Given the description of an element on the screen output the (x, y) to click on. 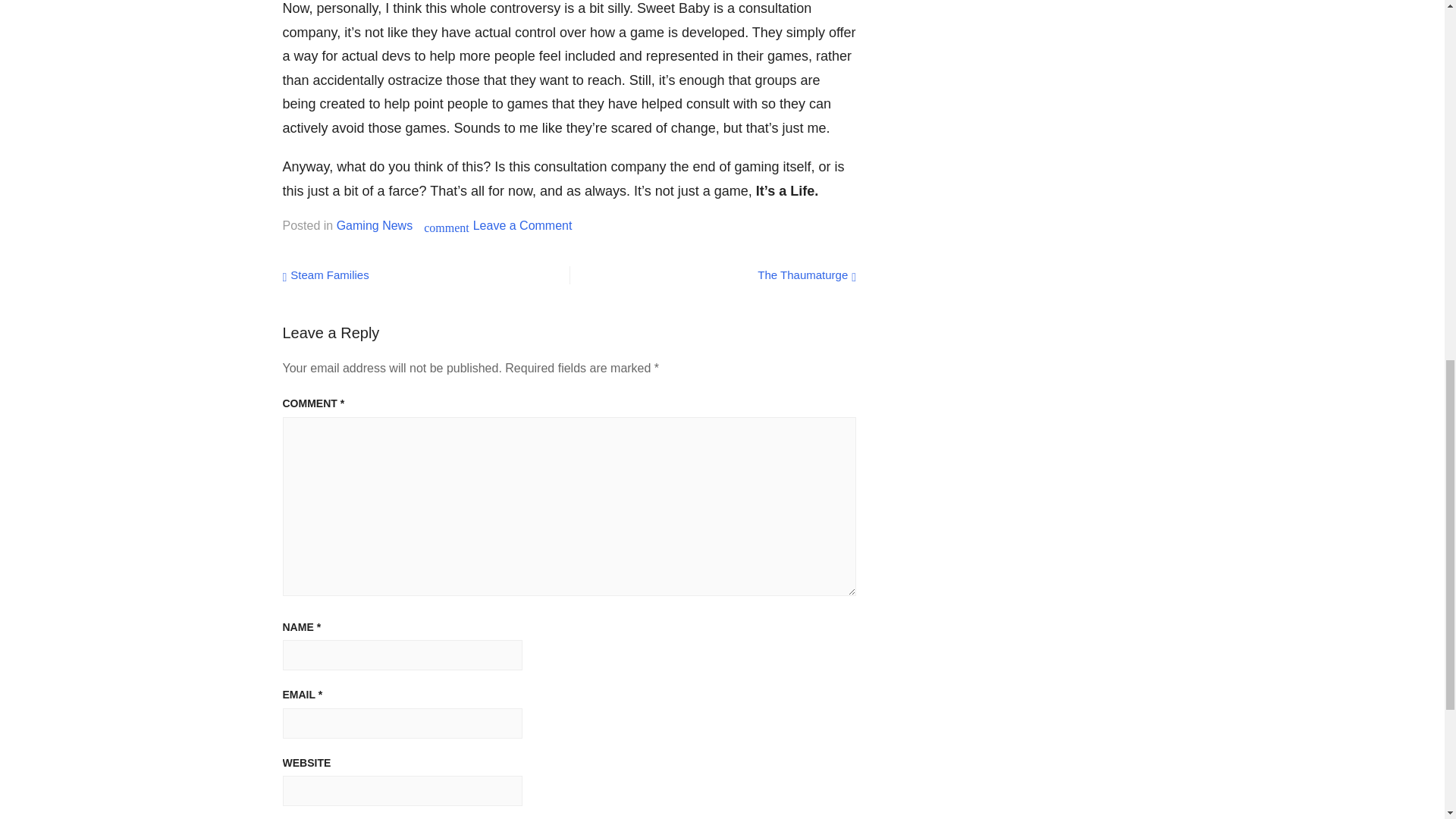
Steam Families (325, 274)
The Thaumaturge (806, 274)
Gaming News (374, 225)
